Given the description of an element on the screen output the (x, y) to click on. 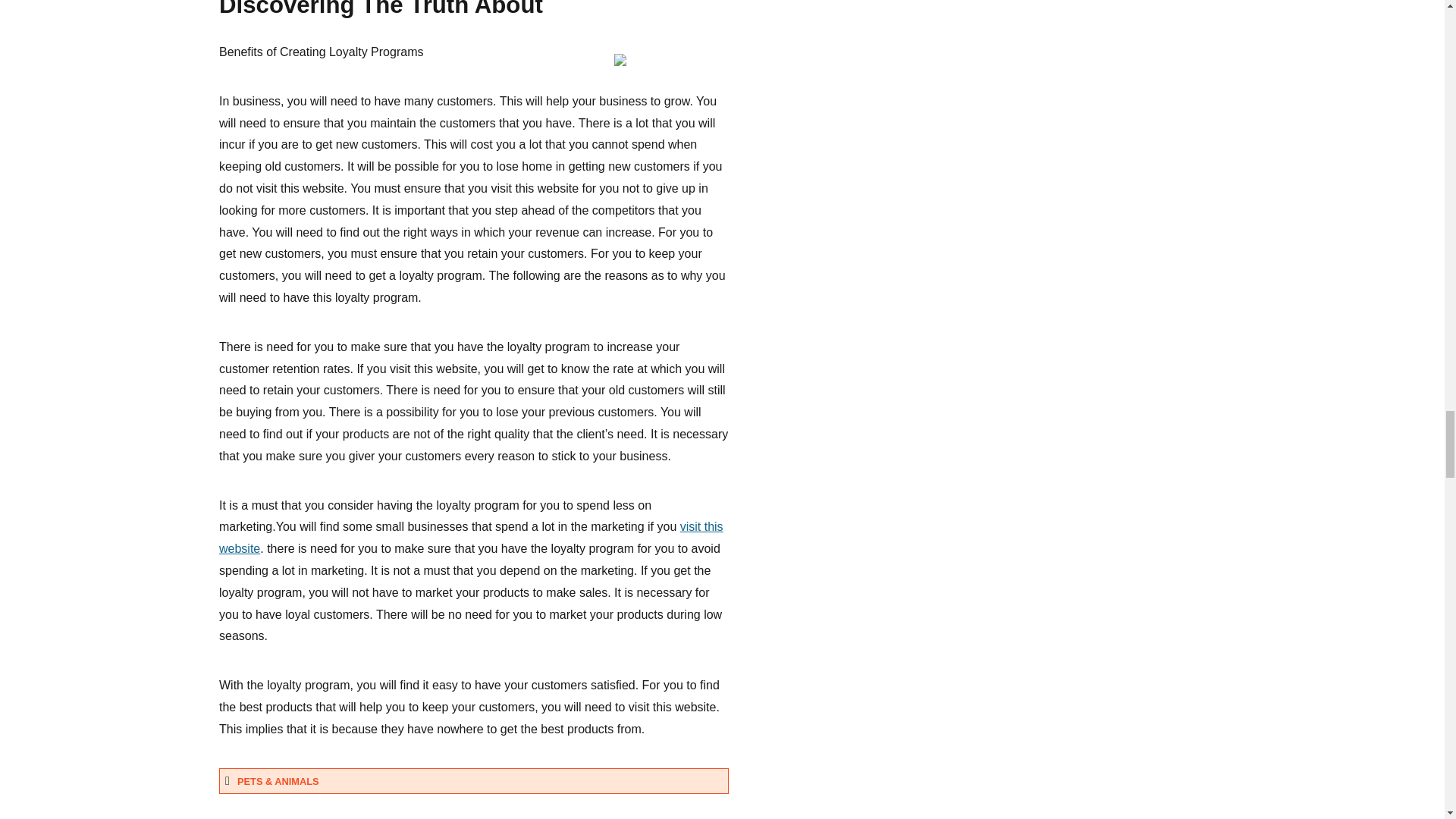
Discovering The Truth About (381, 9)
visit this website (471, 537)
